Given the description of an element on the screen output the (x, y) to click on. 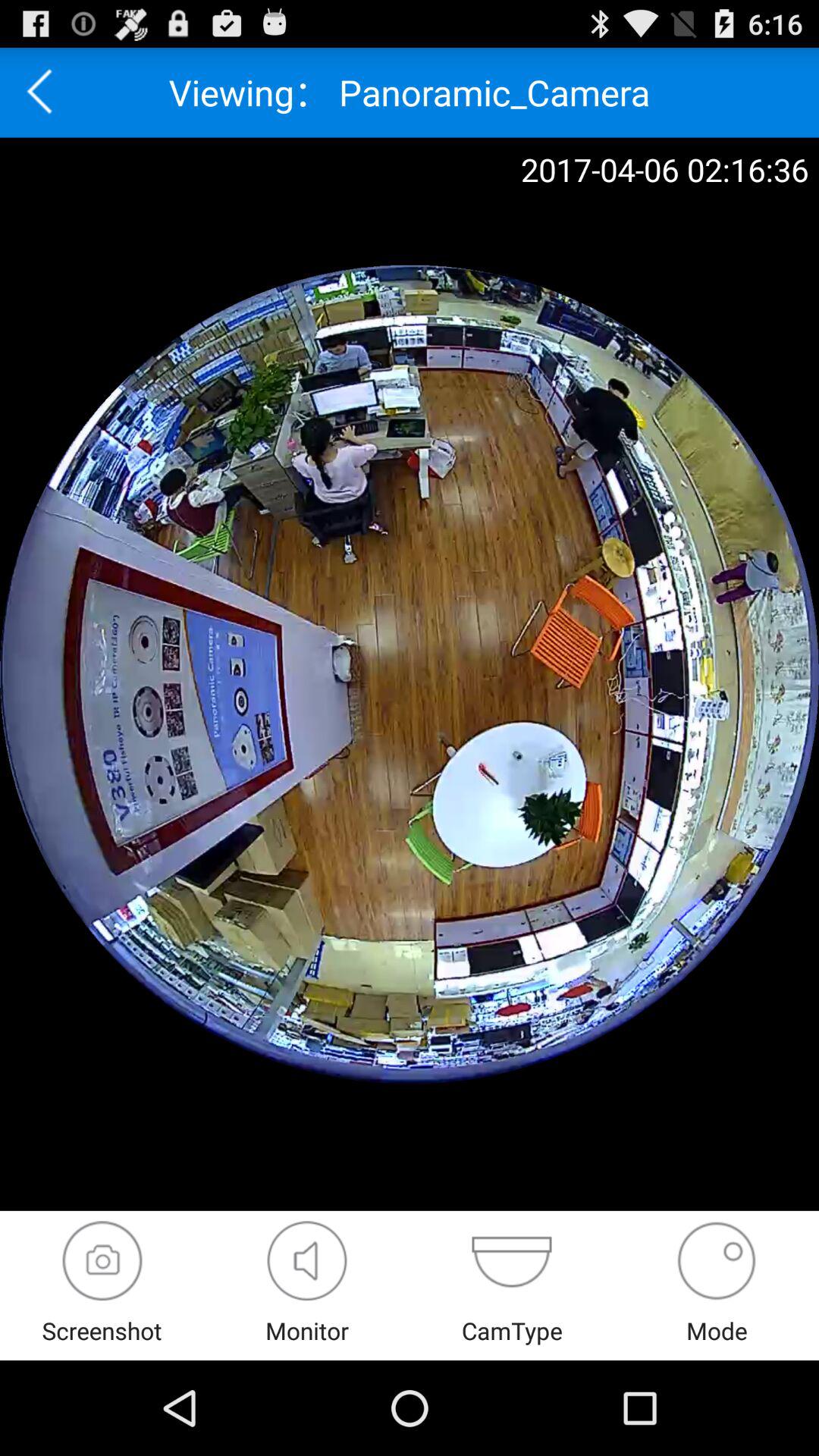
go to screenshot (102, 1260)
